Given the description of an element on the screen output the (x, y) to click on. 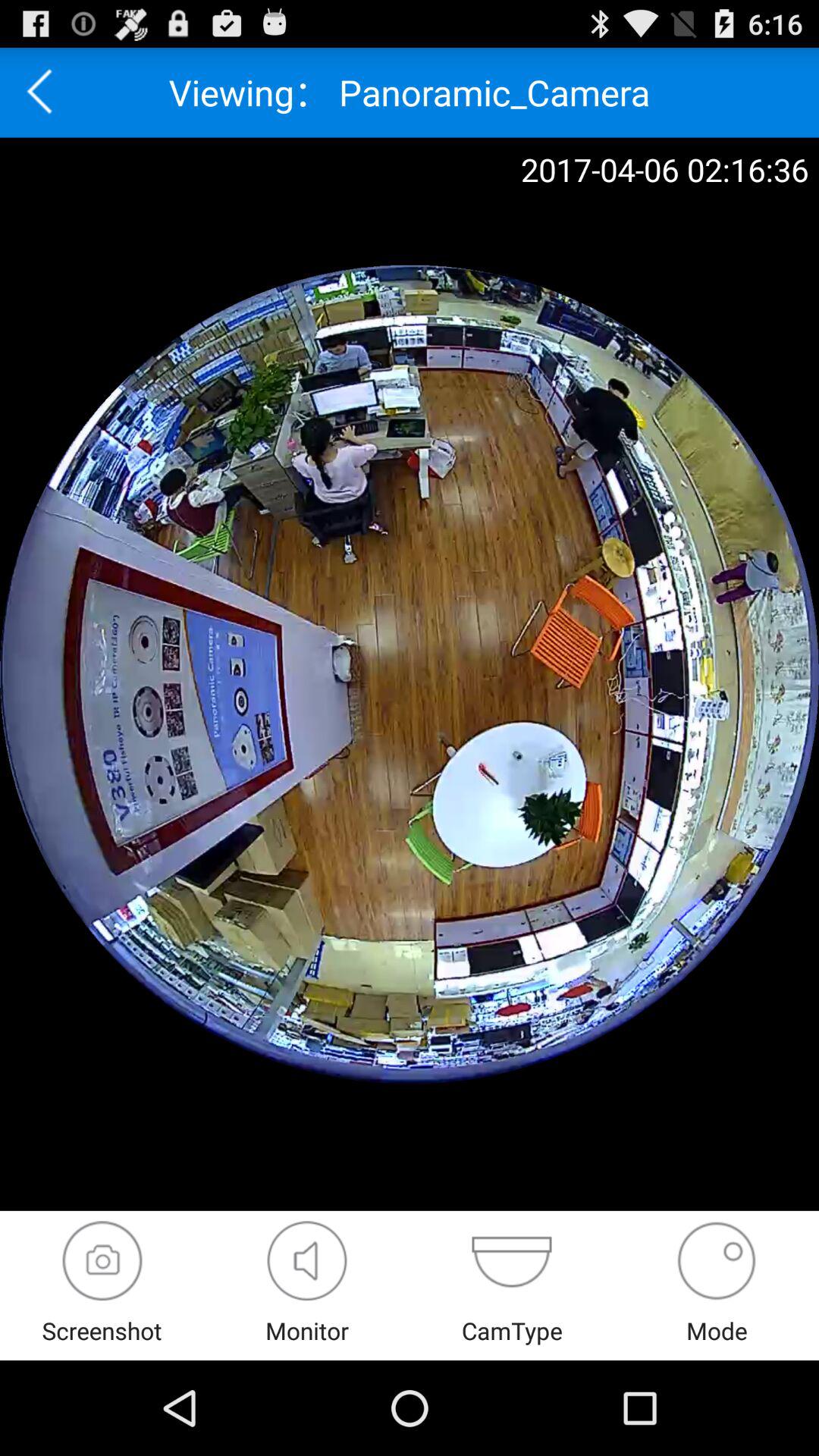
go to screenshot (102, 1260)
